Given the description of an element on the screen output the (x, y) to click on. 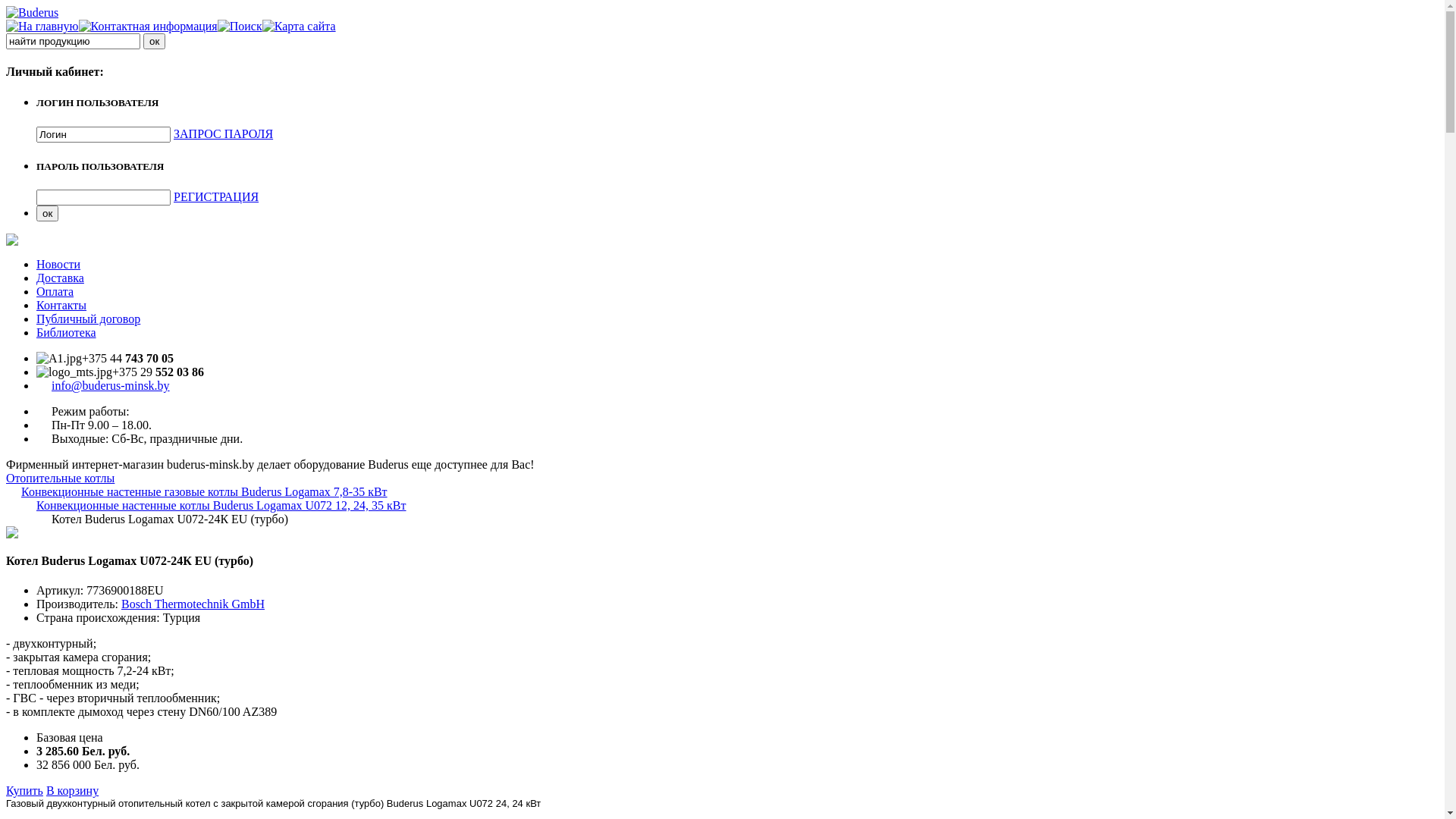
Bosch Thermotechnik GmbH Element type: text (192, 603)
Buderus Element type: hover (32, 12)
info@buderus-minsk.by Element type: text (110, 385)
